Given the description of an element on the screen output the (x, y) to click on. 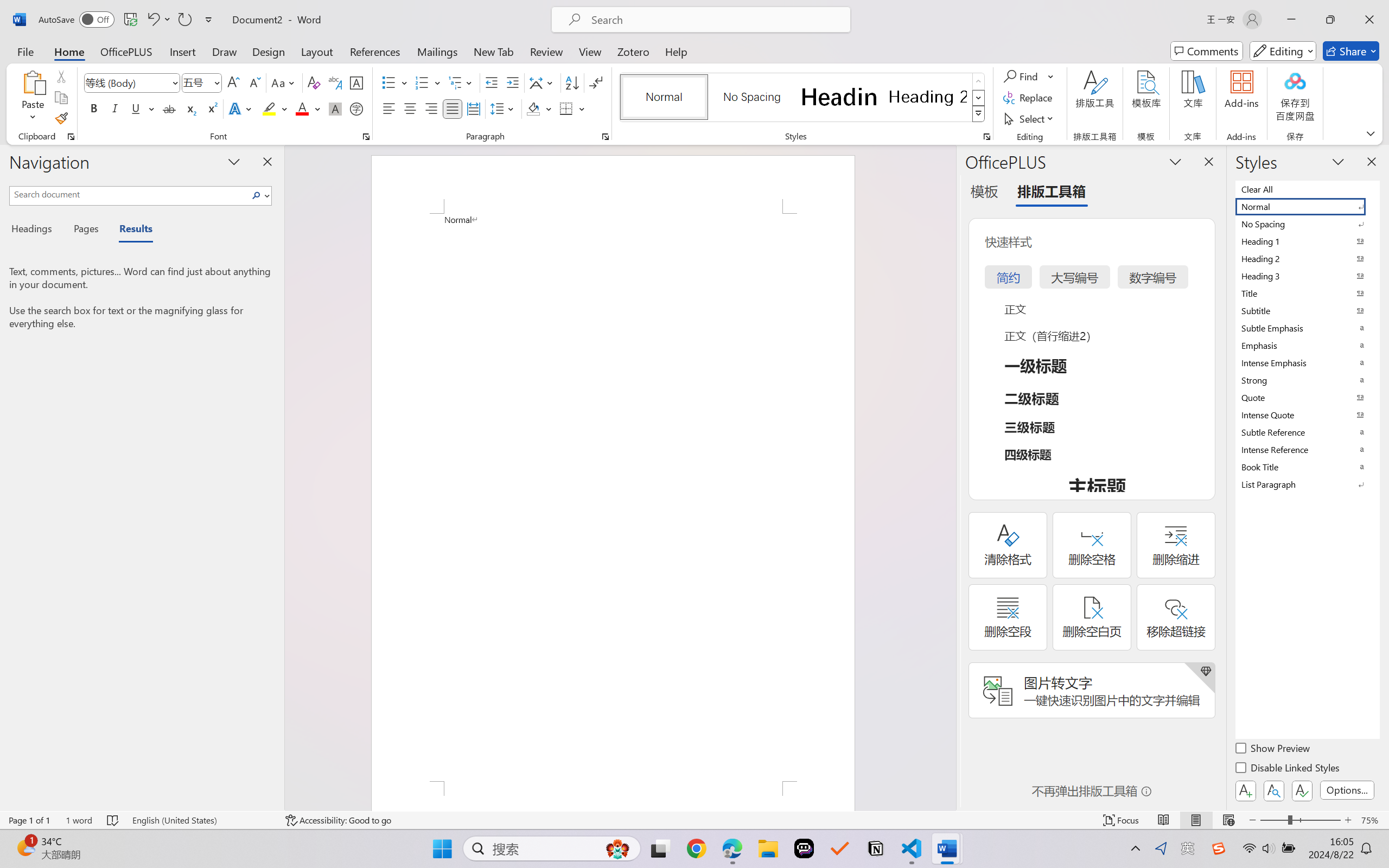
Disable Linked Styles (1287, 769)
Focus  (1121, 819)
Mode (1283, 50)
Font Size (201, 82)
Center (409, 108)
Ribbon Display Options (1370, 132)
Undo Apply Quick Style (158, 19)
Bullets (395, 82)
Search document (128, 193)
Font (132, 82)
Underline (135, 108)
Pages (85, 229)
Heading 2 (927, 96)
